Given the description of an element on the screen output the (x, y) to click on. 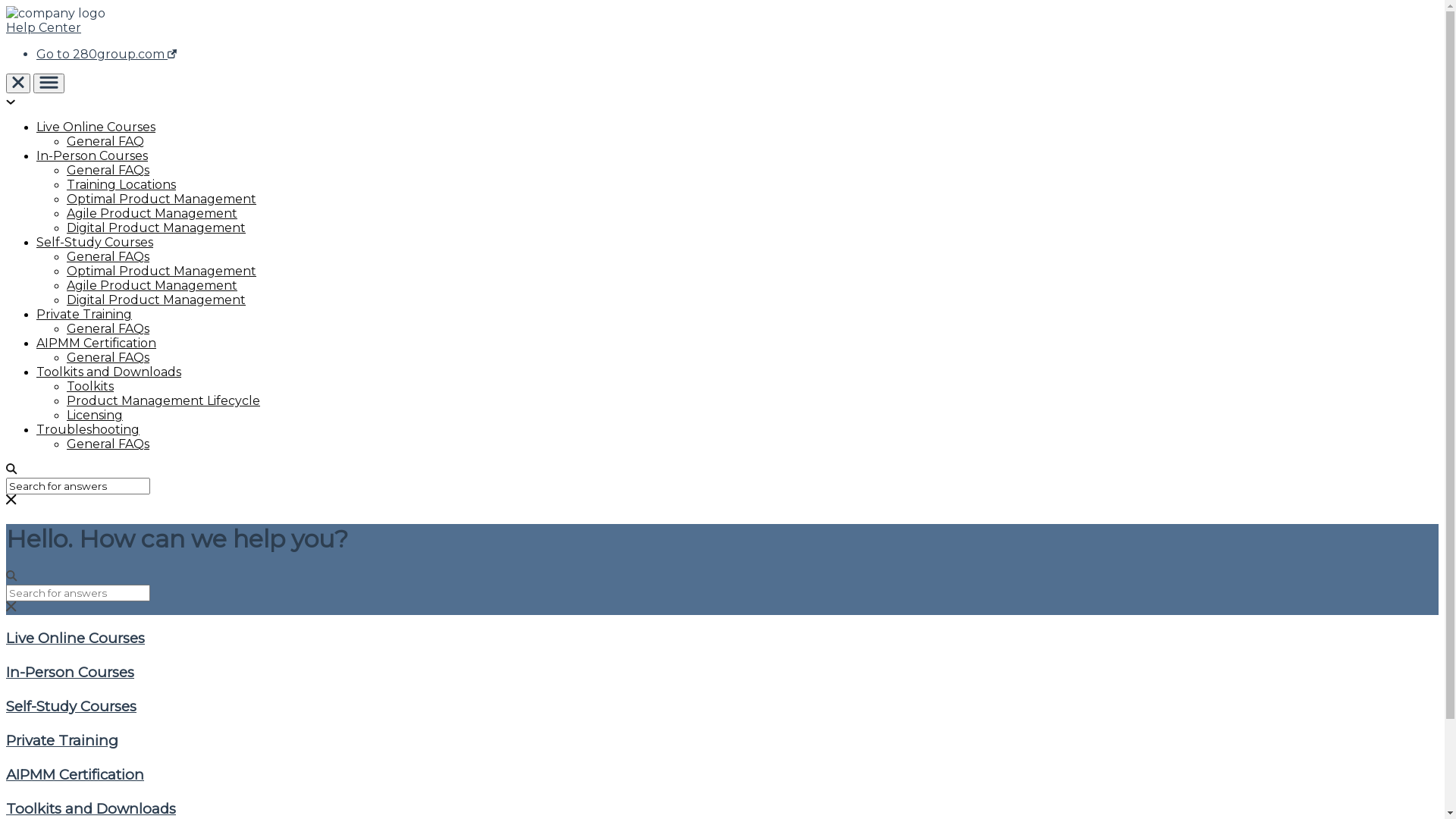
Agile Product Management Element type: text (151, 213)
Help Center Element type: text (43, 27)
Optimal Product Management Element type: text (161, 198)
AIPMM Certification Element type: text (96, 342)
Go to 280group.com Element type: text (106, 54)
Toolkits and Downloads Element type: text (108, 371)
General FAQs Element type: text (107, 443)
General FAQs Element type: text (107, 256)
General FAQs Element type: text (107, 357)
Training Locations Element type: text (120, 184)
Live Online Courses Element type: text (95, 126)
General FAQs Element type: text (107, 170)
Private Training Element type: text (83, 314)
Troubleshooting Element type: text (87, 429)
Self-Study Courses Element type: text (94, 242)
Digital Product Management Element type: text (155, 227)
Private Training Element type: text (722, 740)
Optimal Product Management Element type: text (161, 270)
General FAQ Element type: text (105, 141)
Licensing Element type: text (94, 414)
Self-Study Courses Element type: text (722, 706)
Toolkits Element type: text (89, 386)
AIPMM Certification Element type: text (722, 774)
Toolkits and Downloads Element type: text (722, 808)
In-Person Courses Element type: text (722, 671)
General FAQs Element type: text (107, 328)
Product Management Lifecycle Element type: text (163, 400)
Live Online Courses Element type: text (722, 637)
In-Person Courses Element type: text (91, 155)
Agile Product Management Element type: text (151, 285)
Digital Product Management Element type: text (155, 299)
